Given the description of an element on the screen output the (x, y) to click on. 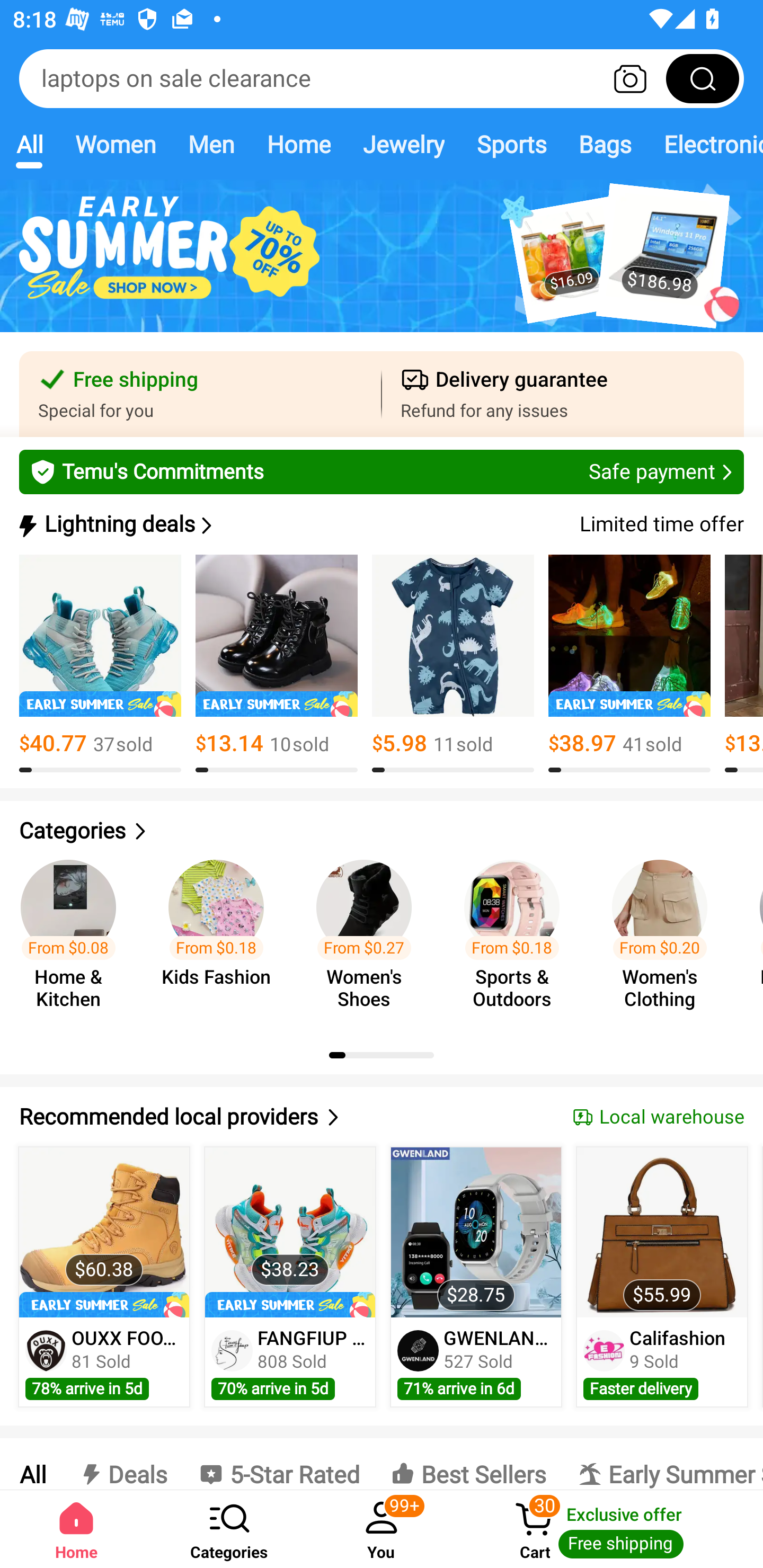
laptops on sale clearance (381, 78)
All (29, 144)
Women (115, 144)
Men (211, 144)
Home (298, 144)
Jewelry (403, 144)
Sports (511, 144)
Bags (605, 144)
Electronics (705, 144)
$16.09 $186.98 (381, 265)
Free shipping Special for you (200, 394)
Delivery guarantee Refund for any issues (562, 394)
Temu's Commitments (381, 471)
Lightning deals Lightning deals Limited time offer (379, 524)
$40.77 37￼sold 8.0 (100, 664)
$13.14 10￼sold 8.0 (276, 664)
$5.98 11￼sold 8.0 (453, 664)
$38.97 41￼sold 8.0 (629, 664)
